Given the description of an element on the screen output the (x, y) to click on. 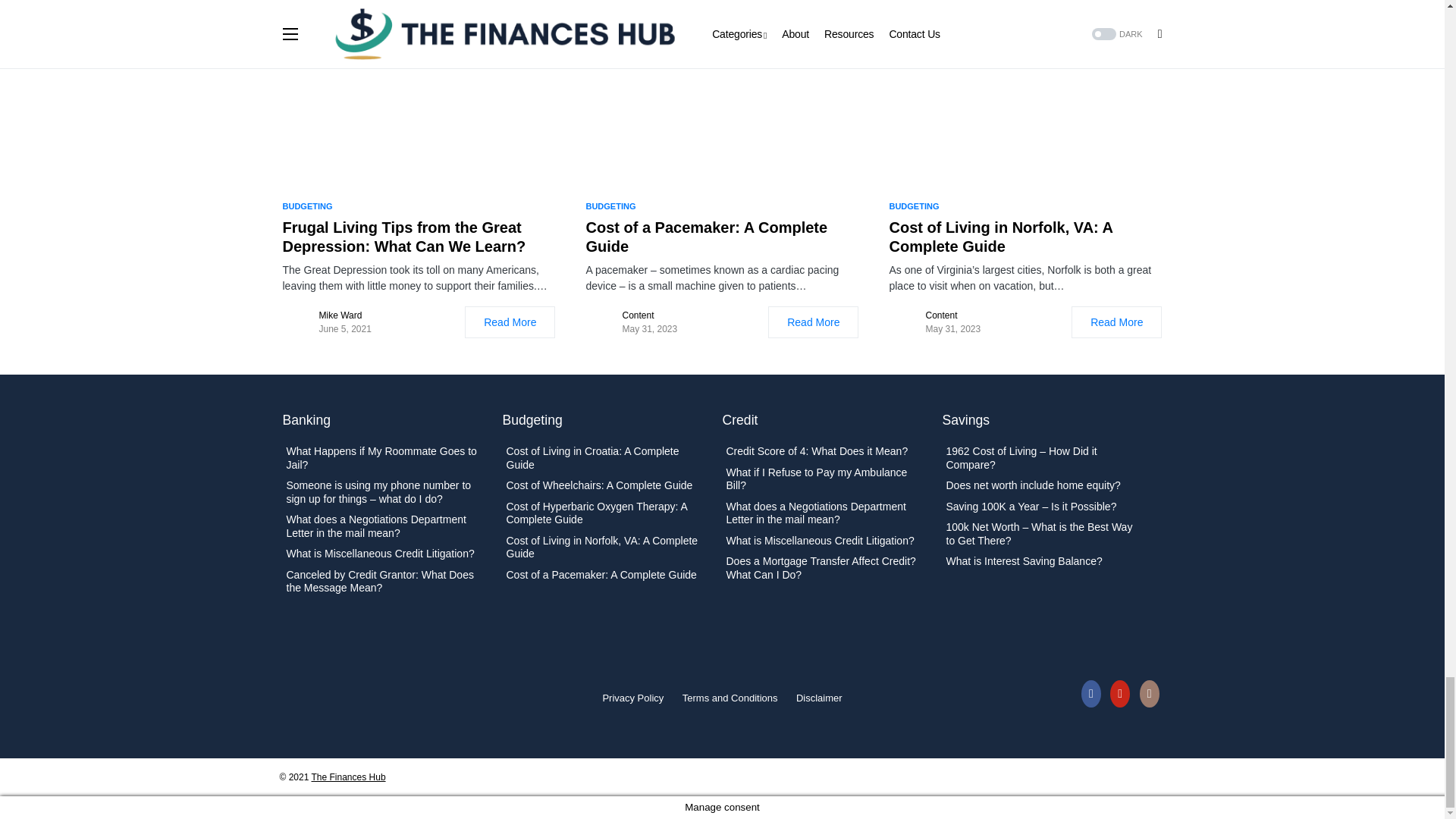
Gravatar for Content (600, 322)
Gravatar for Mike Ward (297, 322)
Gravatar for Content (903, 322)
